Given the description of an element on the screen output the (x, y) to click on. 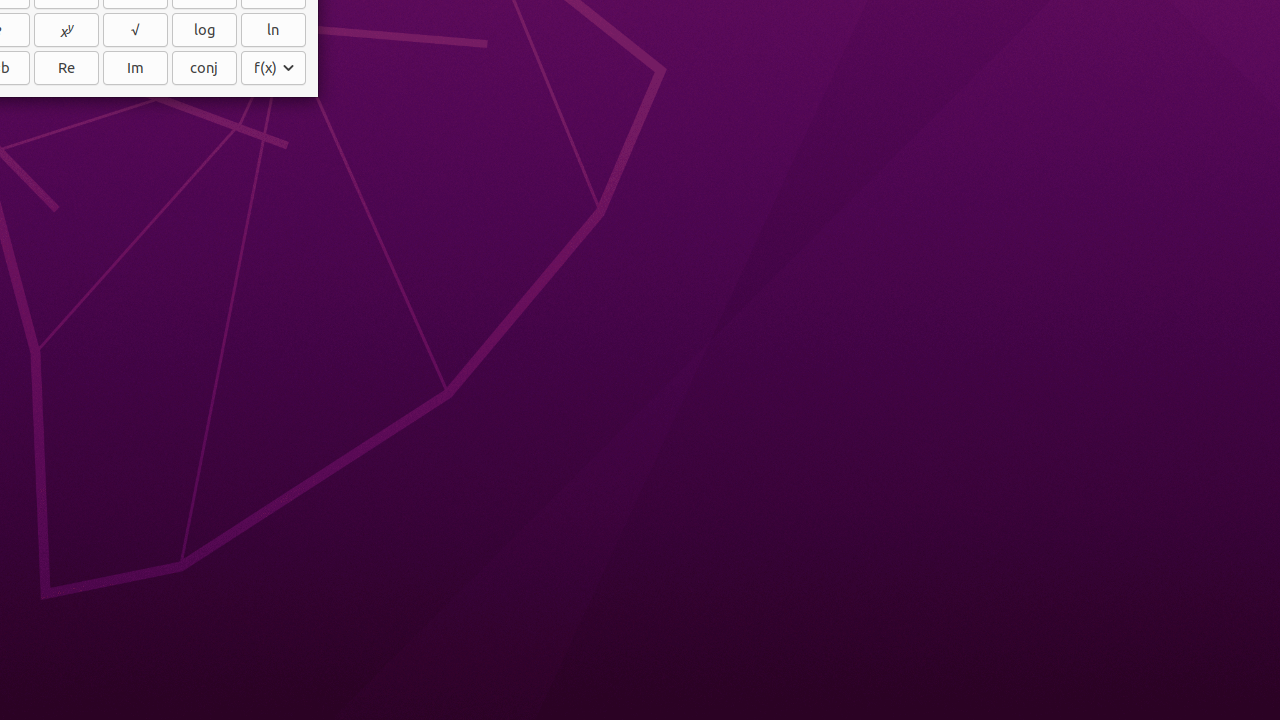
Exponent Element type: push-button (66, 29)
Store Element type: toggle-button (273, 68)
√ Element type: push-button (135, 29)
